Given the description of an element on the screen output the (x, y) to click on. 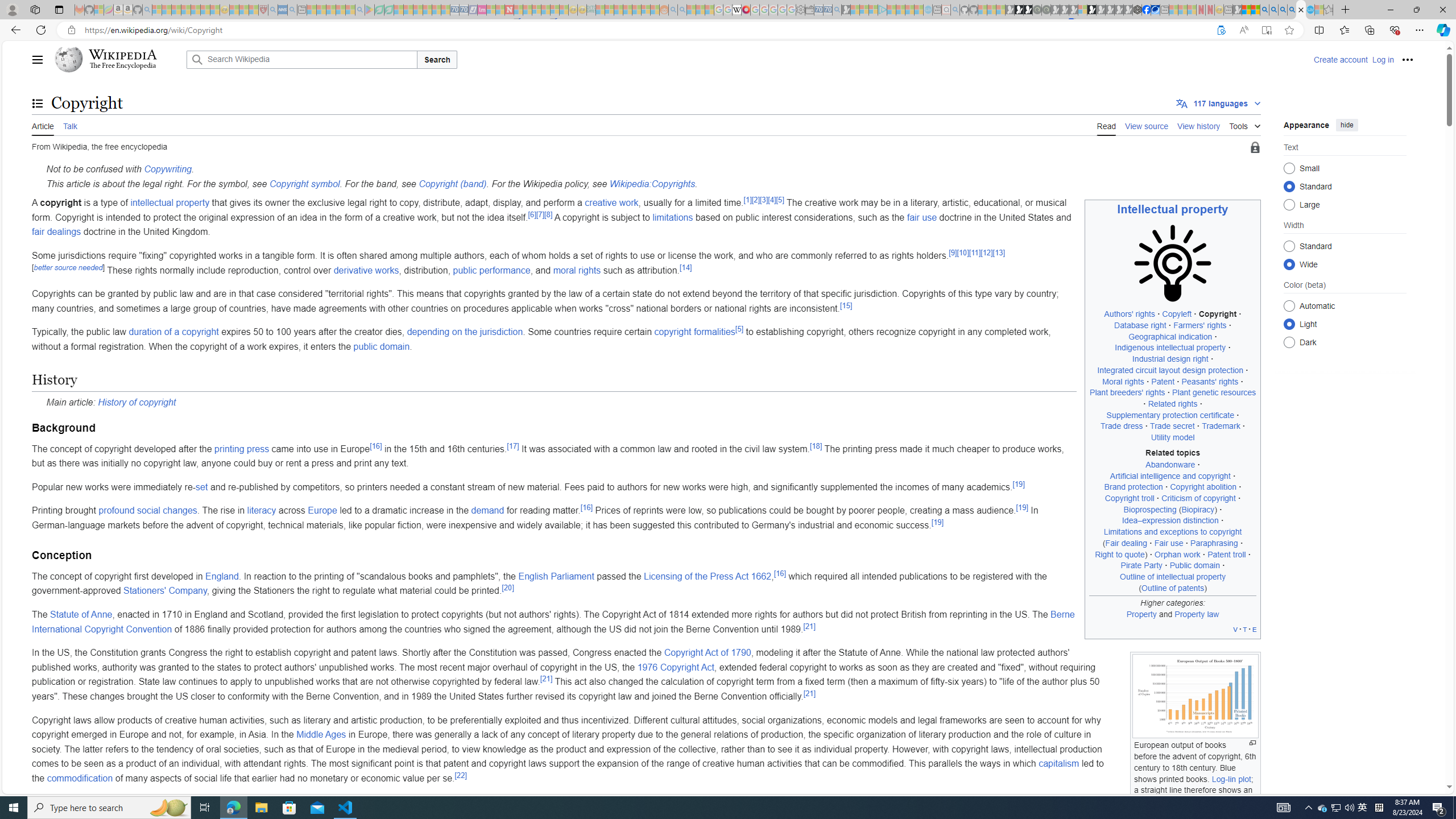
Patent troll (1226, 554)
Trade secret (1172, 425)
Favorites (1344, 29)
[4] (771, 198)
England (221, 575)
(Outline of patents) (1172, 587)
Log in (1382, 58)
capitalism (1058, 763)
Copyright troll (1129, 498)
Talk (69, 124)
